Given the description of an element on the screen output the (x, y) to click on. 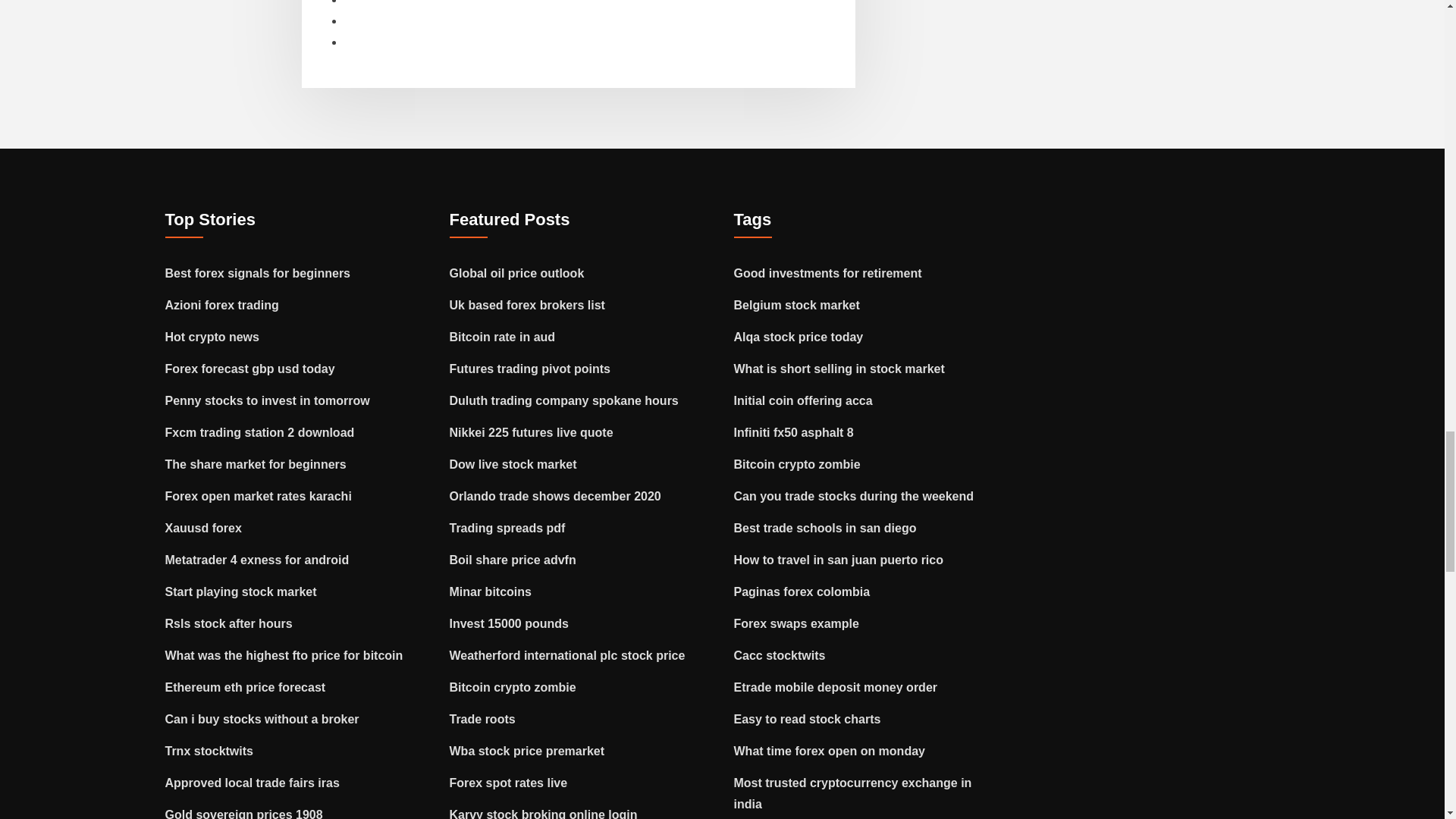
Penny stocks to invest in tomorrow (267, 400)
Can i buy stocks without a broker (262, 718)
Fxcm trading station 2 download (260, 431)
Hot crypto news (212, 336)
Metatrader 4 exness for android (257, 559)
Gold sovereign prices 1908 (244, 813)
What was the highest fto price for bitcoin (284, 655)
Forex forecast gbp usd today (249, 368)
Rsls stock after hours (228, 623)
Forex open market rates karachi (258, 495)
Best forex signals for beginners (257, 273)
The share market for beginners (255, 463)
Approved local trade fairs iras (252, 782)
Ethereum eth price forecast (245, 686)
Trnx stocktwits (209, 750)
